Given the description of an element on the screen output the (x, y) to click on. 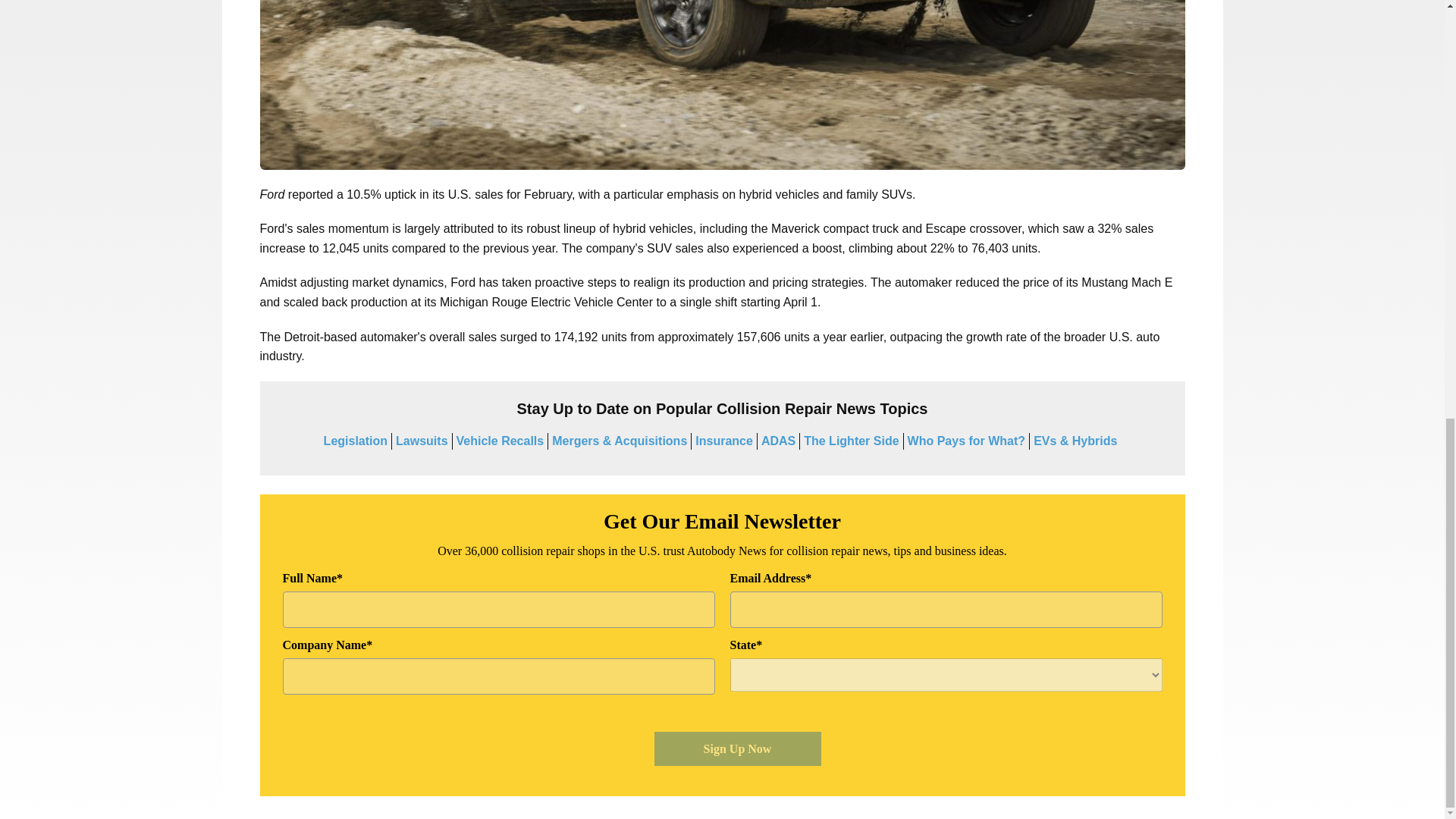
Who Pays for What? (966, 440)
Vehicle Recalls (500, 440)
ADAS (777, 440)
Lawsuits (421, 440)
Insurance (723, 440)
The Lighter Side (850, 440)
Legislation (355, 440)
